Given the description of an element on the screen output the (x, y) to click on. 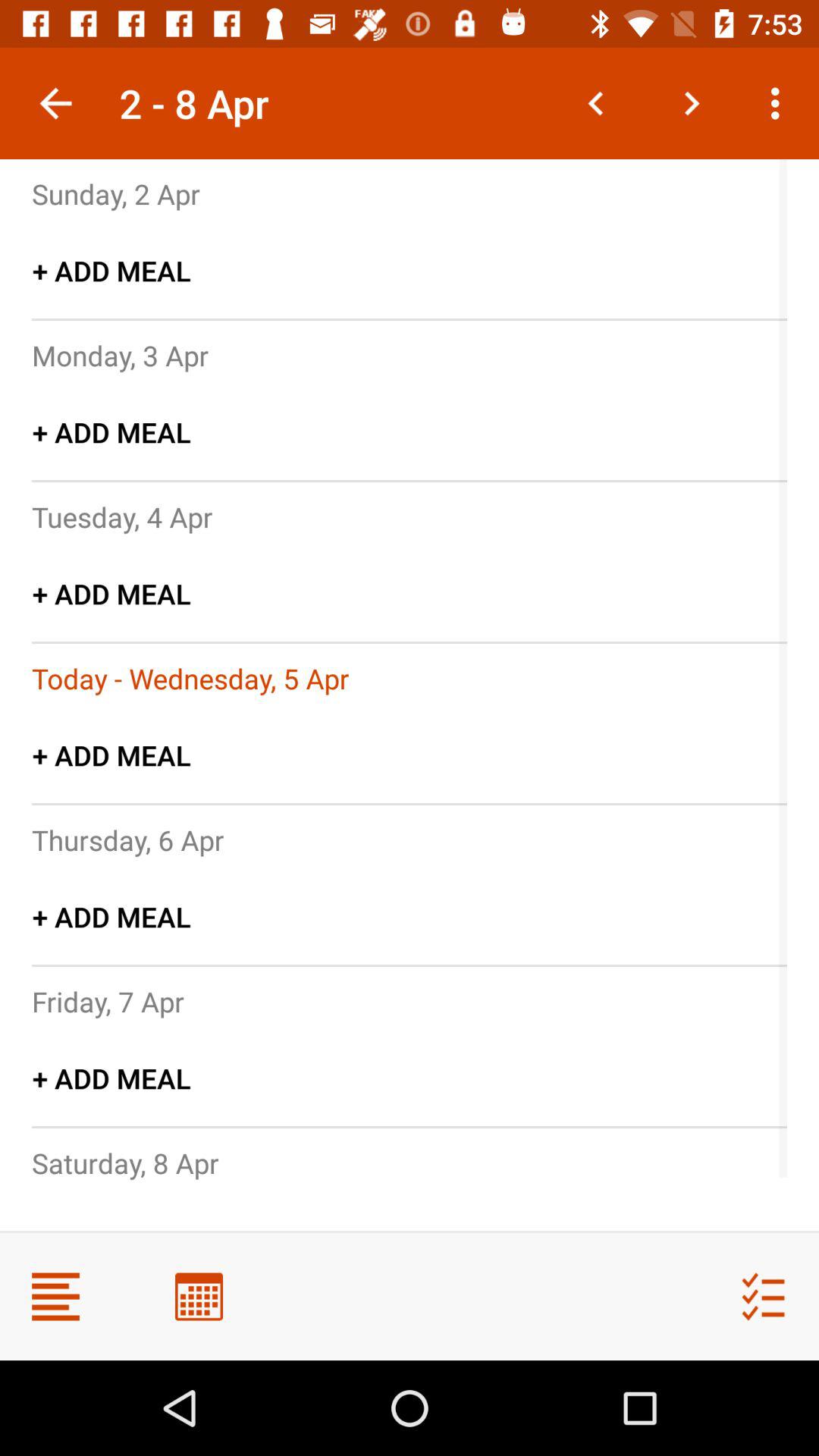
open app next to the 2 - 8 apr icon (55, 103)
